Given the description of an element on the screen output the (x, y) to click on. 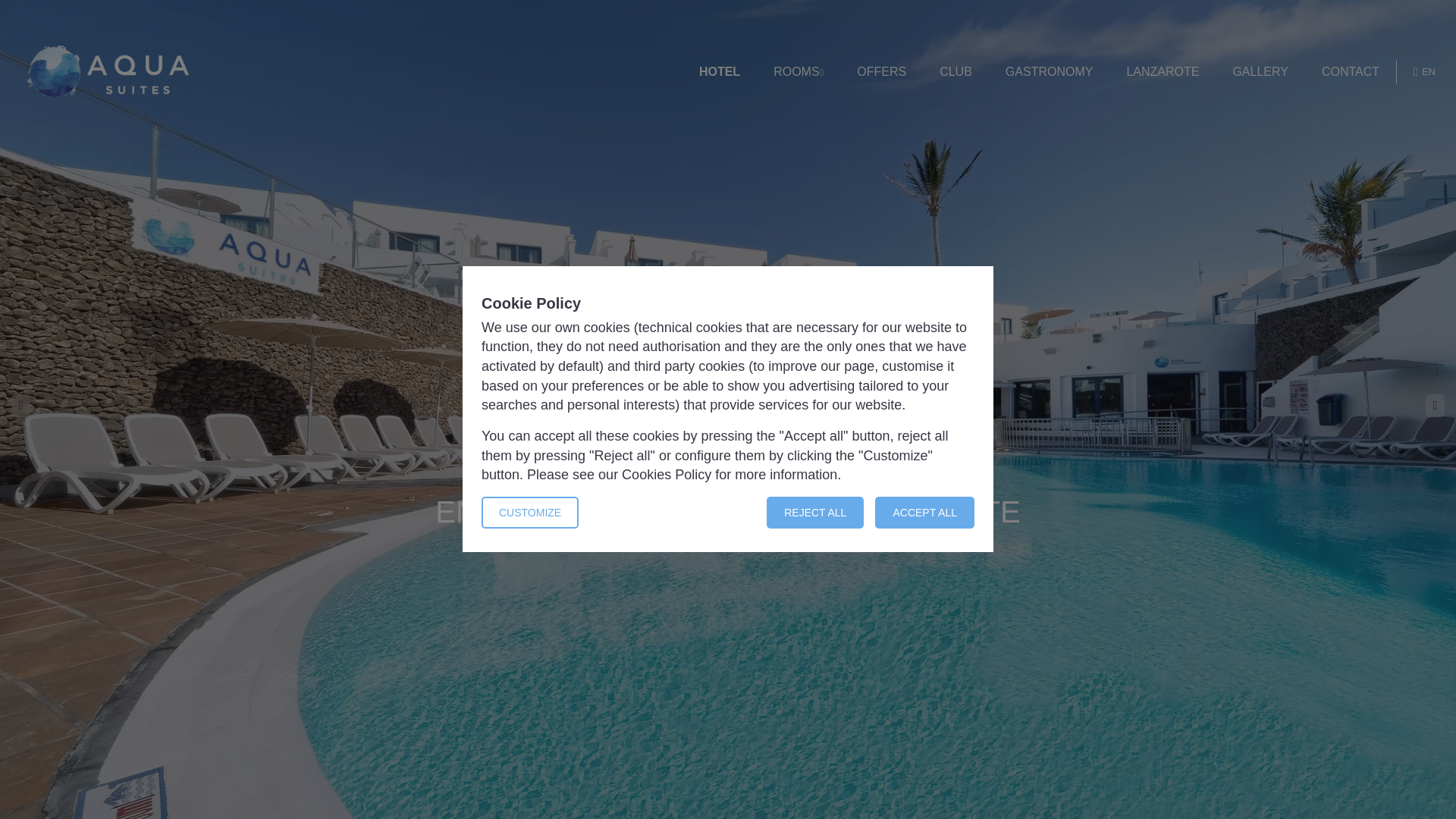
Aqua Suites Lanzarote (108, 71)
LANZAROTE (1162, 72)
EN (1424, 71)
HOTEL (719, 72)
OFFERS (881, 72)
CONTACT (1350, 72)
CLUB (956, 72)
GALLERY (1260, 72)
ROOMS (797, 72)
GASTRONOMY (1049, 72)
